Given the description of an element on the screen output the (x, y) to click on. 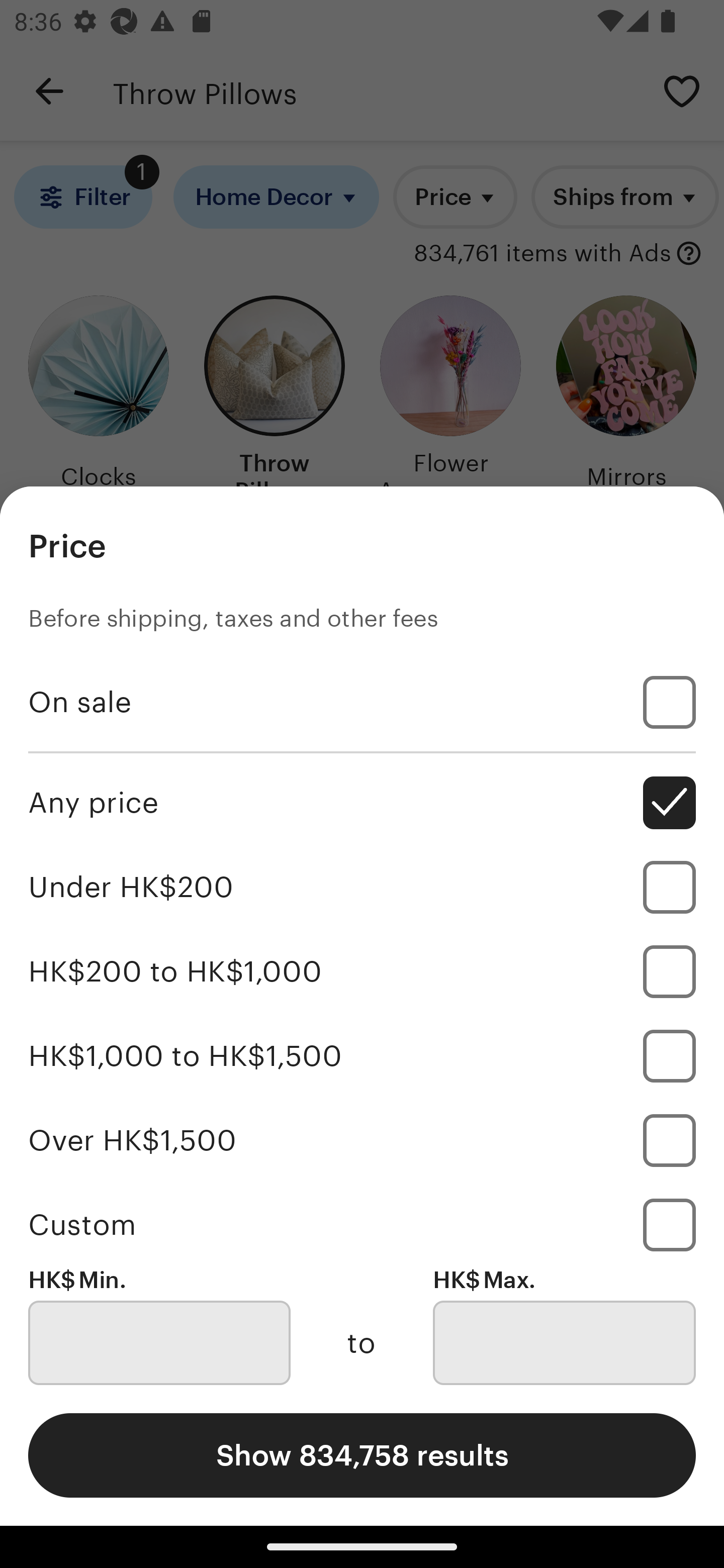
On sale (362, 702)
Any price (362, 802)
Under HK$200 (362, 887)
HK$200 to HK$1,000 (362, 970)
HK$1,000 to HK$1,500 (362, 1054)
Over HK$1,500 (362, 1139)
Custom (362, 1224)
Show 834,758 results (361, 1454)
